Given the description of an element on the screen output the (x, y) to click on. 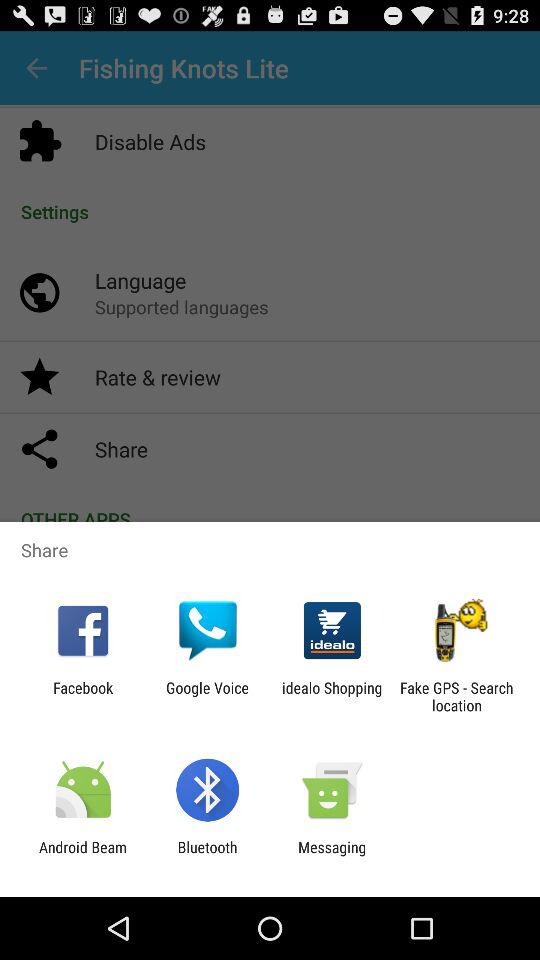
tap the icon to the left of idealo shopping app (207, 696)
